Given the description of an element on the screen output the (x, y) to click on. 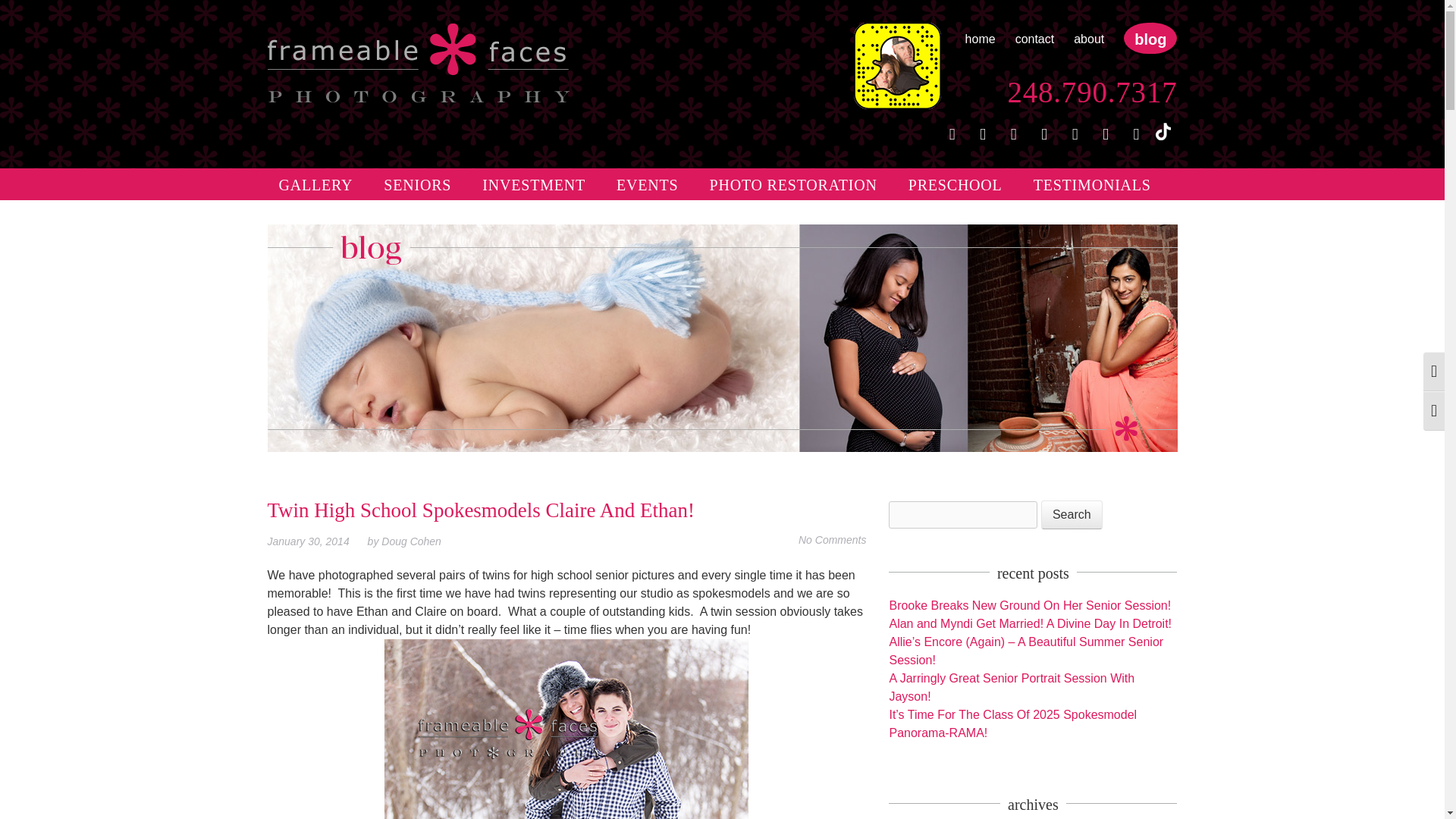
SENIORS (417, 183)
contact (1034, 38)
Skip to content (306, 177)
TESTIMONIALS (1091, 183)
No Comments (831, 539)
January 30, 2014 (315, 540)
PRESCHOOL (954, 183)
INVESTMENT (533, 183)
GALLERY (315, 183)
PHOTO RESTORATION (793, 183)
